Given the description of an element on the screen output the (x, y) to click on. 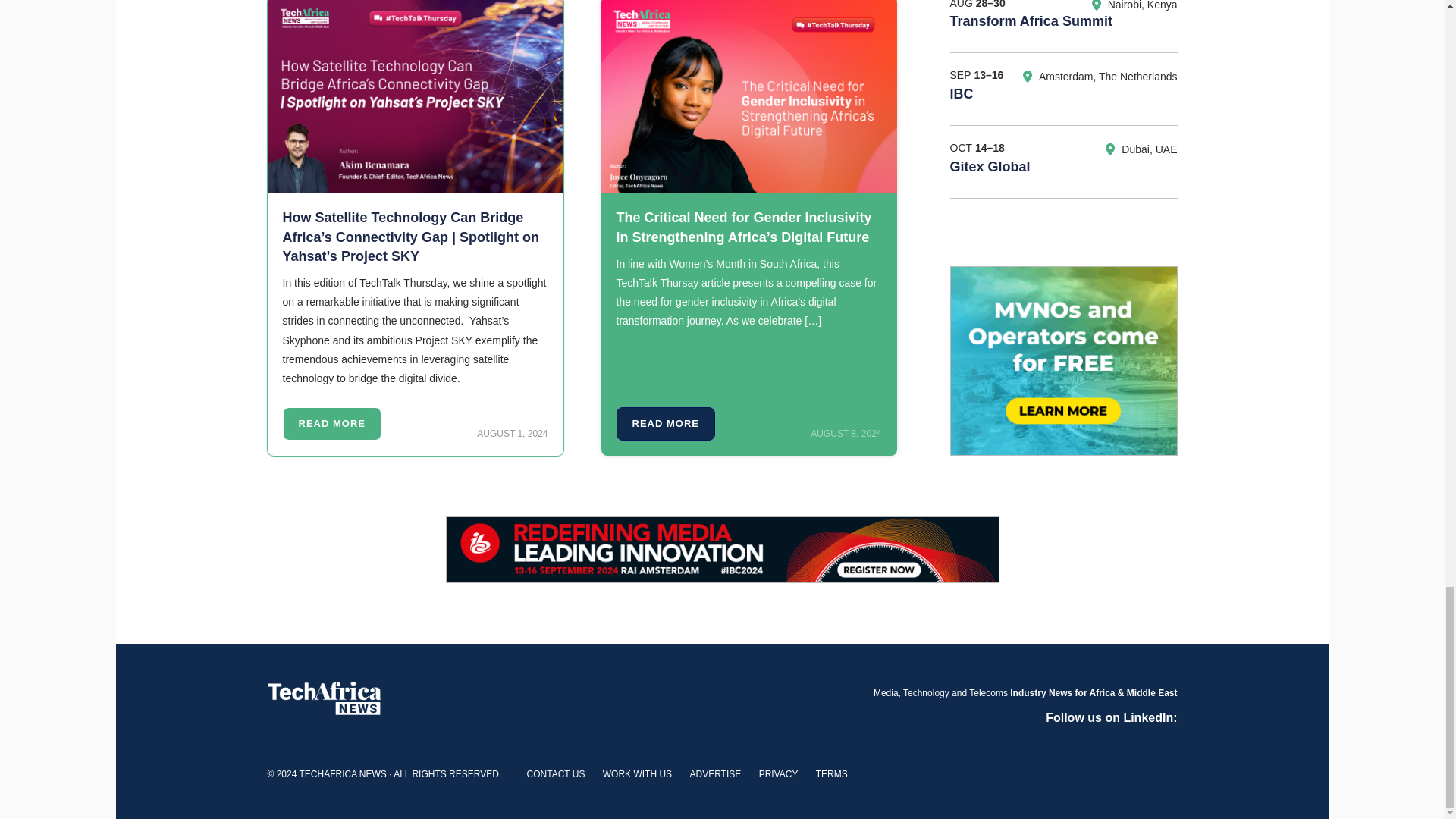
ADVERTISE (714, 774)
PRIVACY (777, 774)
CONTACT US (556, 774)
TERMS (831, 774)
WORK WITH US (636, 774)
